Given the description of an element on the screen output the (x, y) to click on. 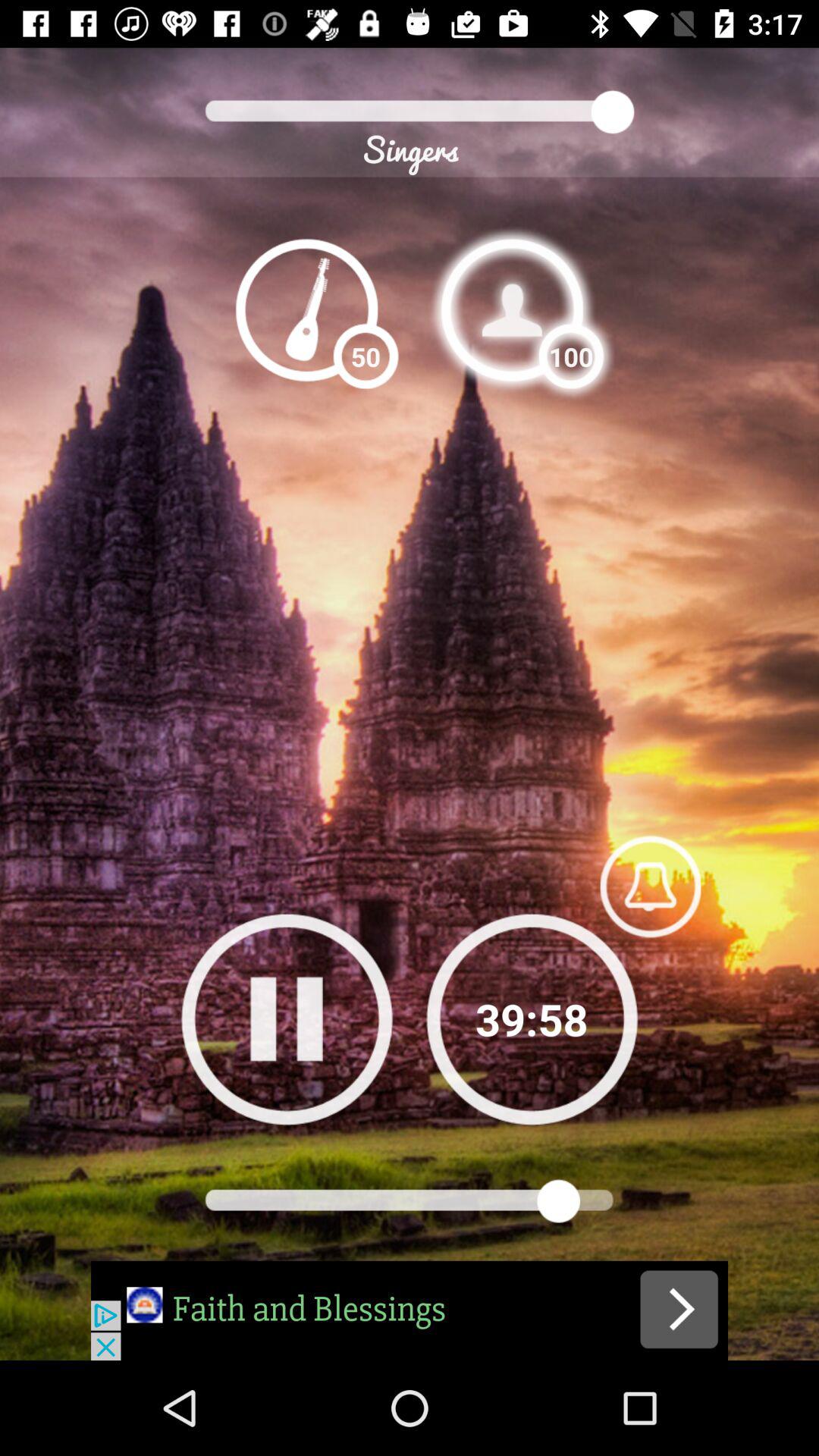
select an option (511, 309)
